Given the description of an element on the screen output the (x, y) to click on. 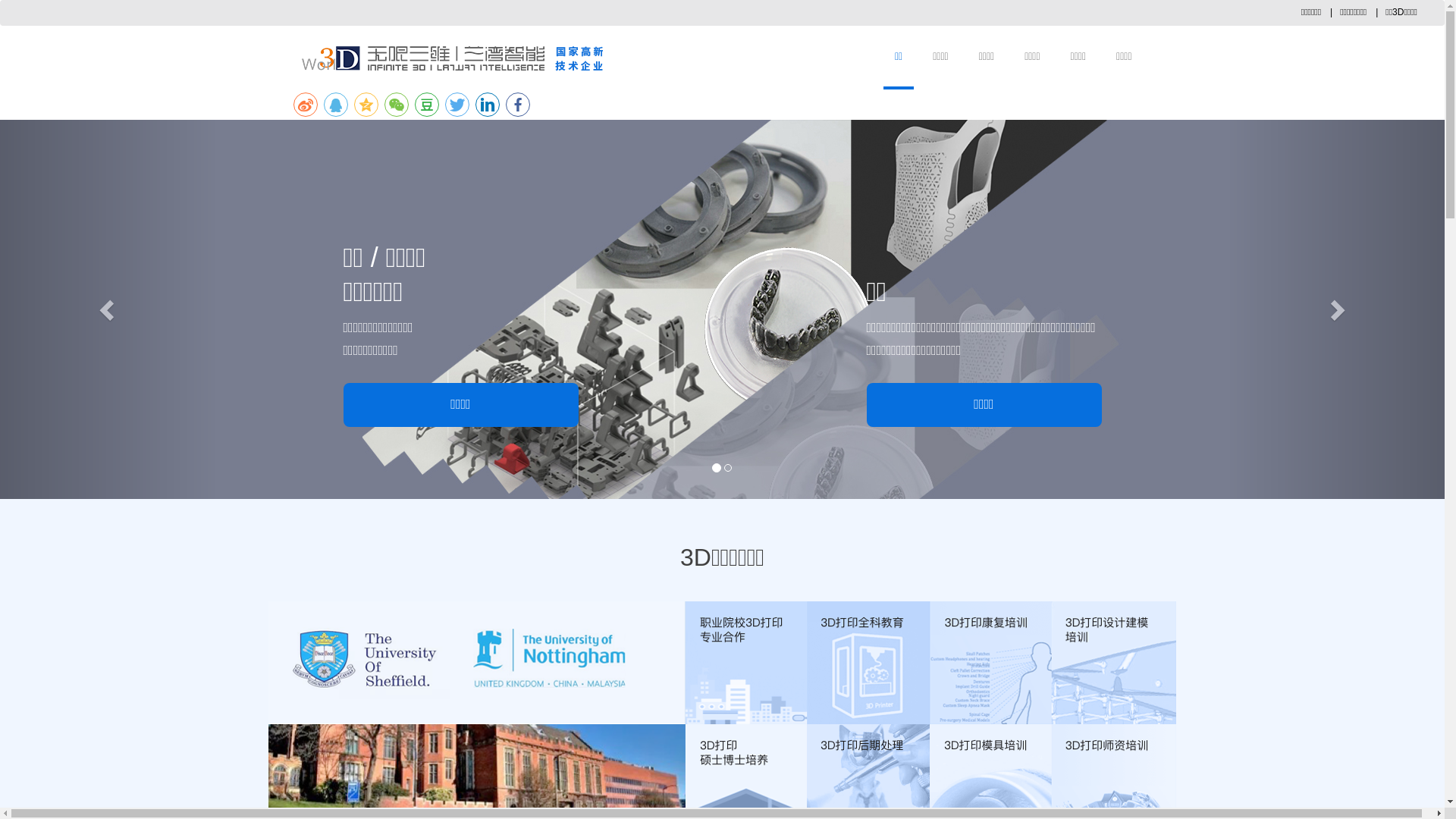
  Element type: text (108, 308)
